Given the description of an element on the screen output the (x, y) to click on. 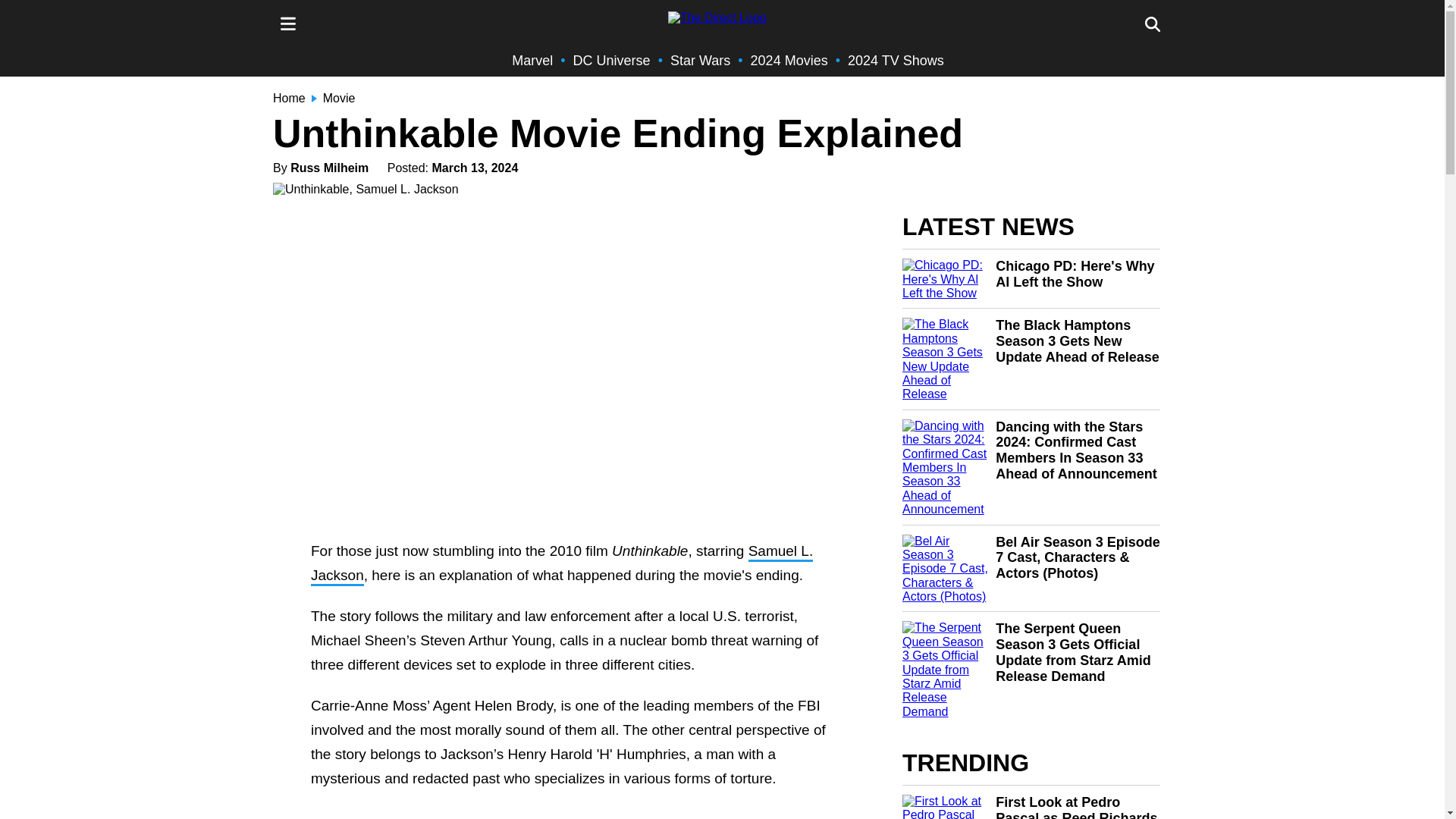
2024 TV Shows (895, 60)
2024 Movies (789, 60)
Star Wars (699, 60)
DC Universe (611, 60)
Marvel (532, 60)
